Given the description of an element on the screen output the (x, y) to click on. 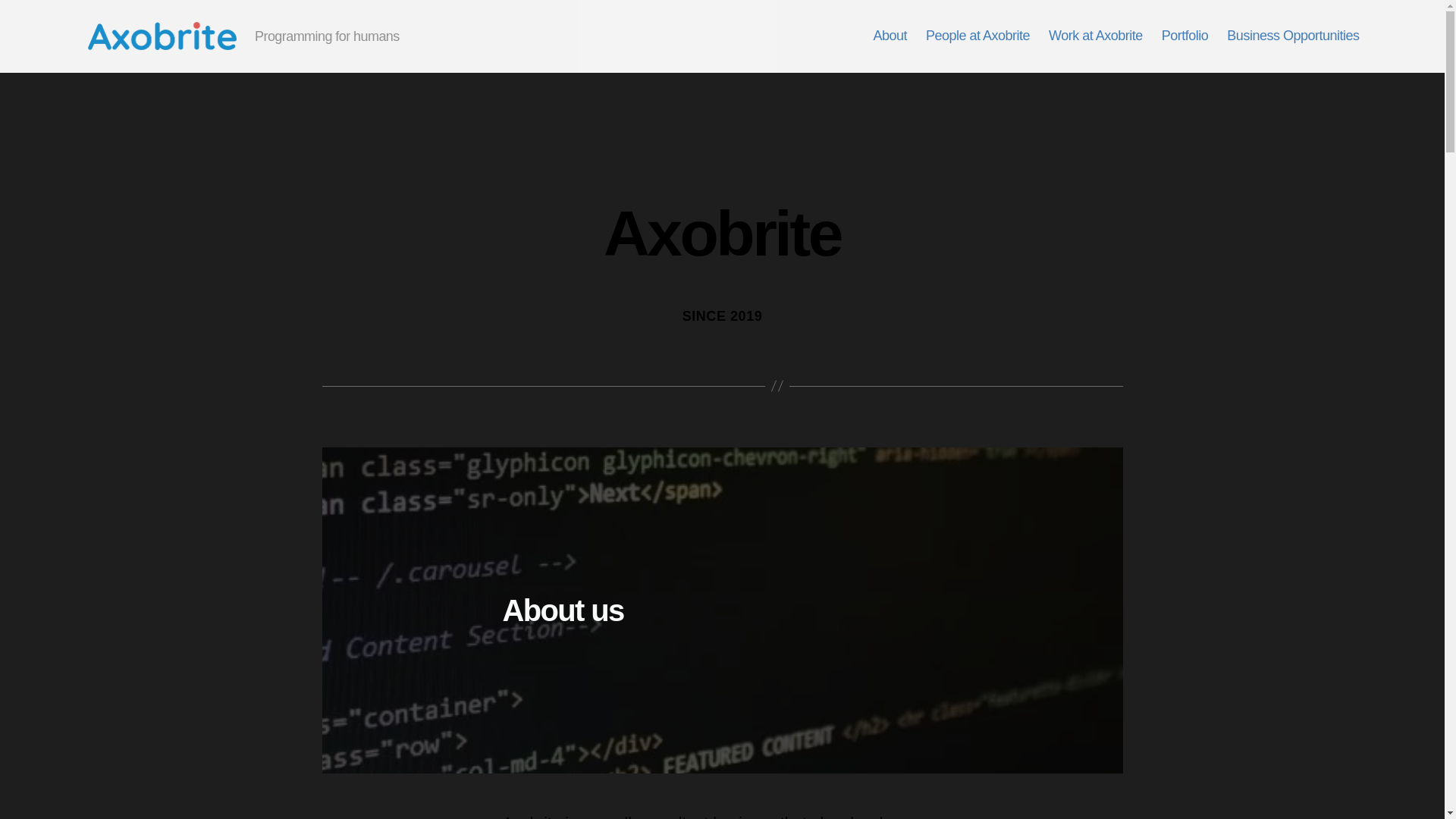
Portfolio (1184, 36)
People at Axobrite (977, 36)
Business Opportunities (1292, 36)
Work at Axobrite (1095, 36)
About (889, 36)
